Given the description of an element on the screen output the (x, y) to click on. 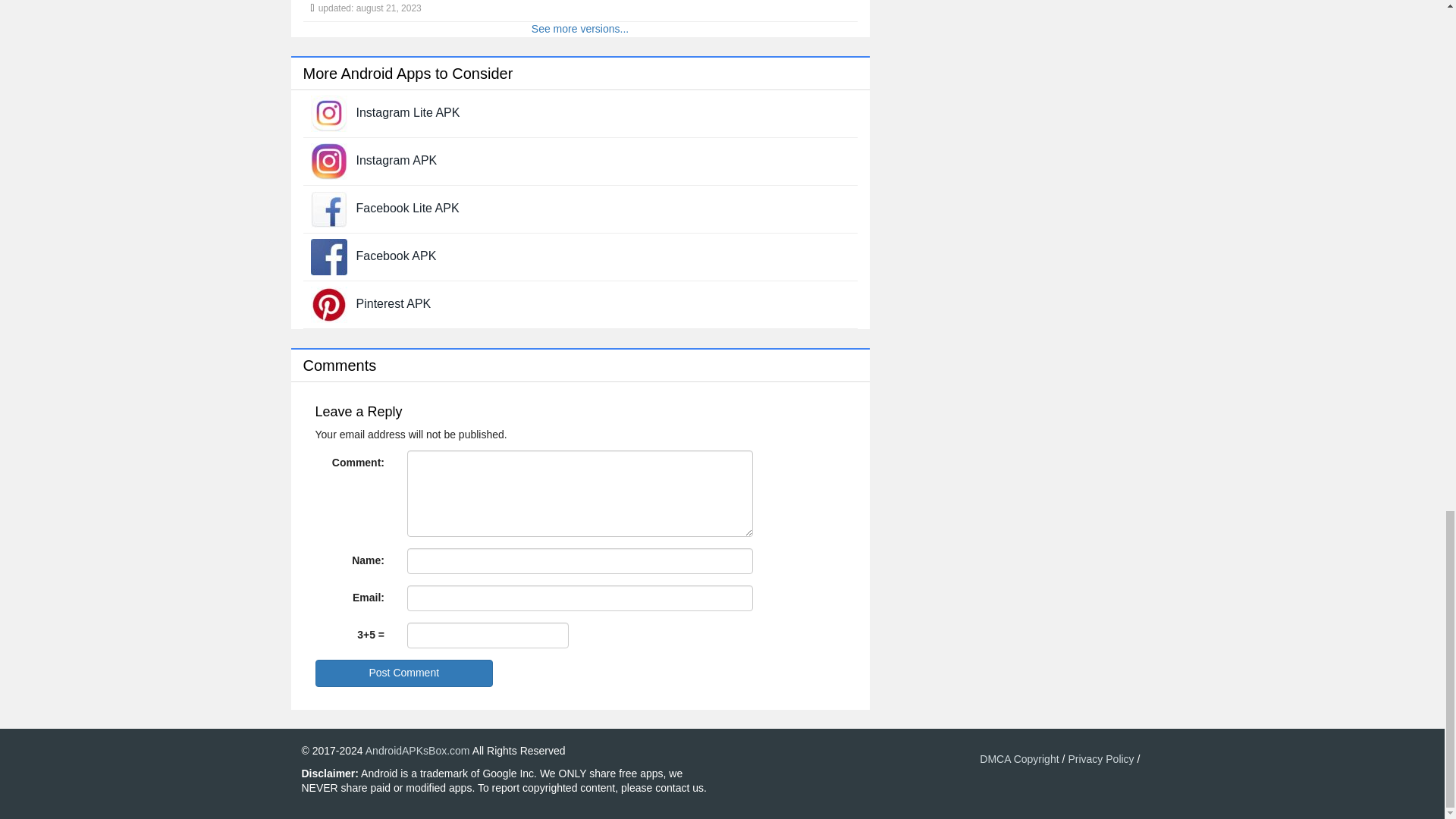
Pinterest Latest Version 12.27.0 APK Download (329, 304)
Facebook APK (396, 255)
Facebook Latest Version 472.0.0.45.79 APK Download (396, 255)
Instagram Lite APK (408, 112)
Pinterest APK (393, 303)
Instagram Latest Version 340.0.0.22.109 APK Download (397, 160)
See more versions... (579, 28)
Pinterest Latest Version 12.27.0 APK Download (393, 303)
Instagram Lite Latest Version 416.0.0.10.102 APK Download (329, 112)
Facebook Lite Latest Version 415.0.0.12.100 APK Download (408, 207)
Post Comment (404, 673)
Instagram Lite Latest Version 416.0.0.10.102 APK Download (408, 112)
Facebook Lite APK (408, 207)
Facebook Latest Version 472.0.0.45.79 APK Download (329, 256)
Instagram Latest Version 340.0.0.22.109 APK Download (329, 160)
